Given the description of an element on the screen output the (x, y) to click on. 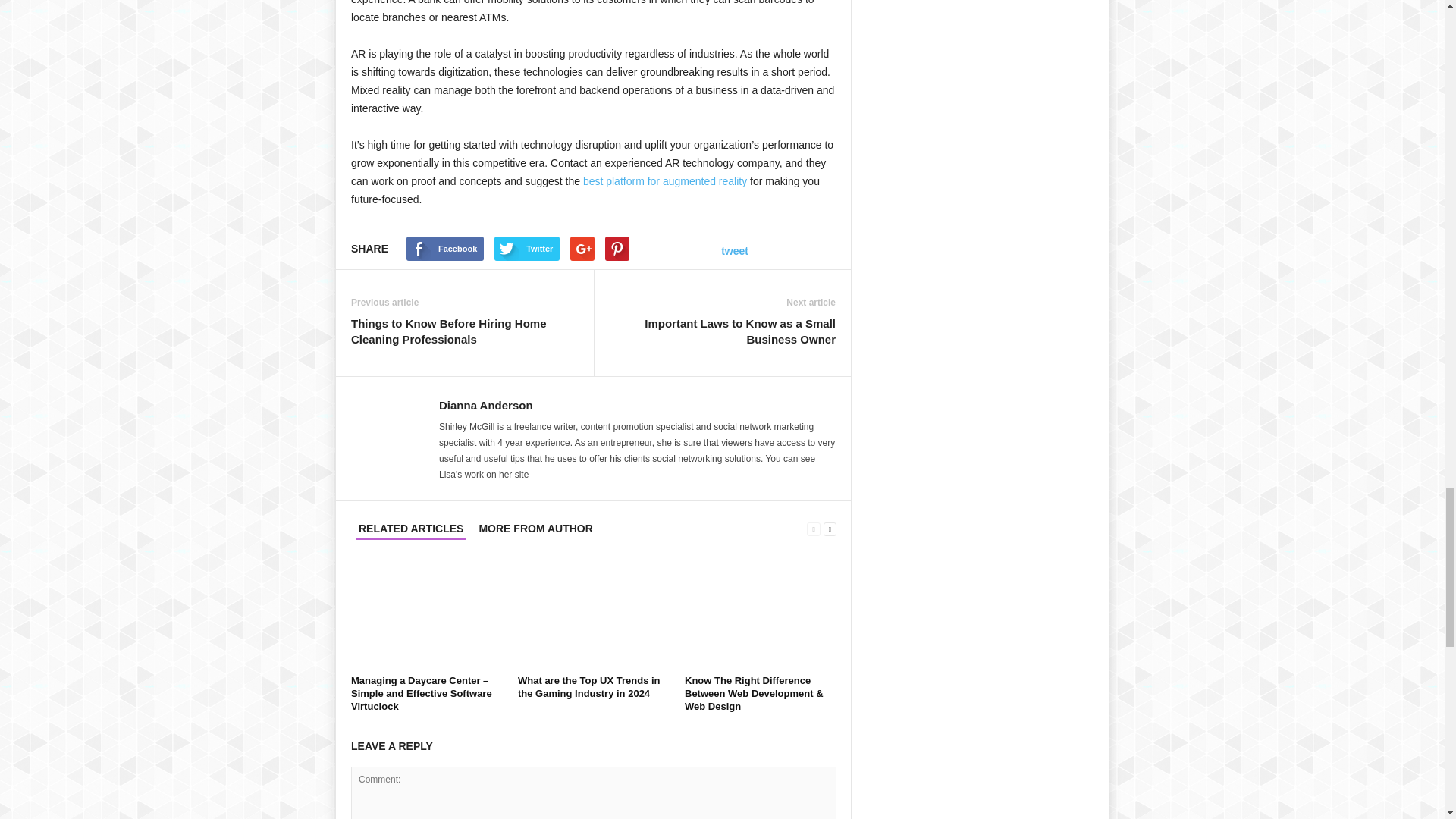
What are the Top UX Trends in the Gaming Industry in 2024 (589, 686)
What are the Top UX Trends in the Gaming Industry in 2024 (593, 612)
